Given the description of an element on the screen output the (x, y) to click on. 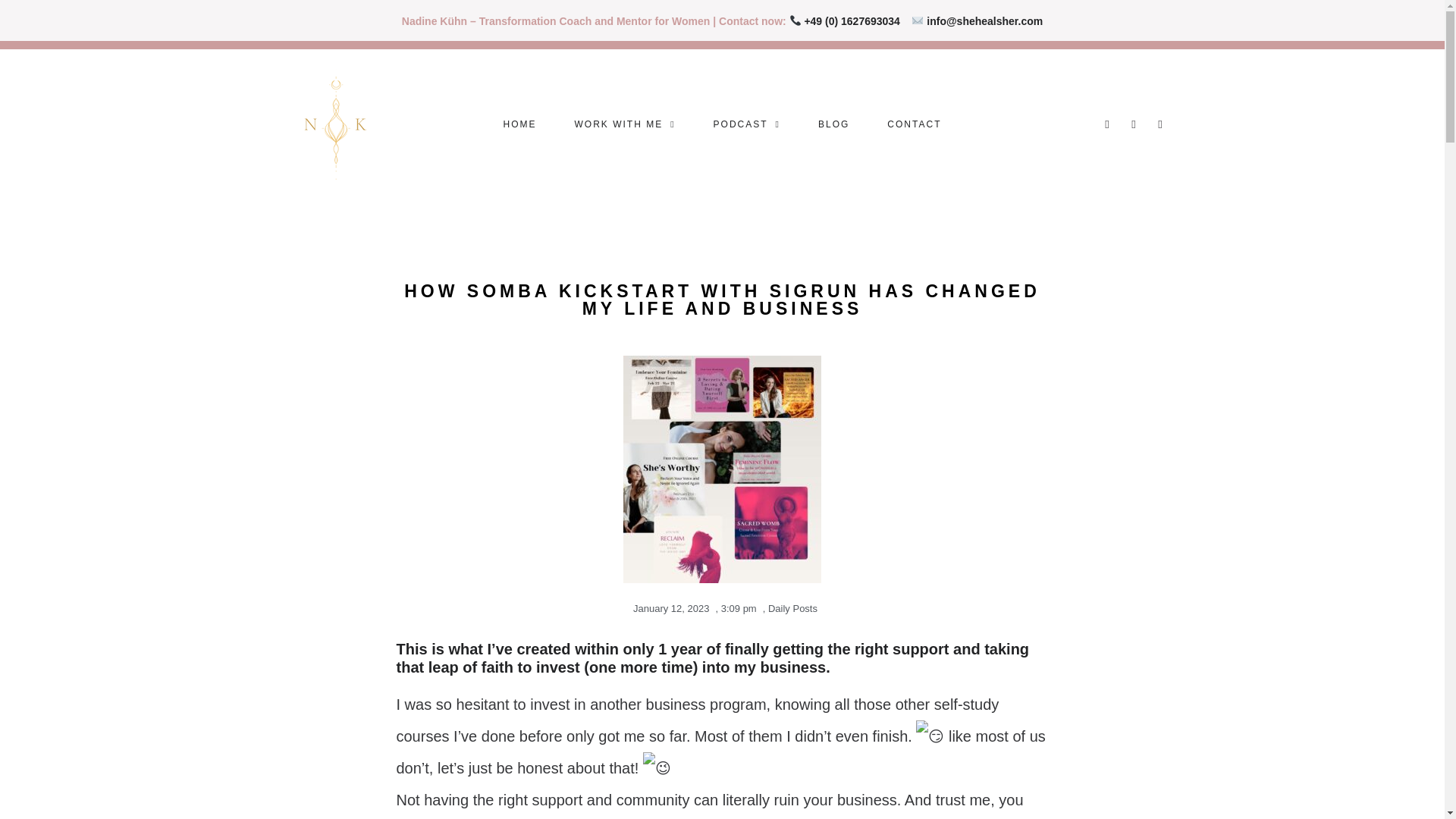
WORK WITH ME (625, 124)
CONTACT (913, 124)
HOME (520, 124)
PODCAST (746, 124)
BLOG (833, 124)
